Given the description of an element on the screen output the (x, y) to click on. 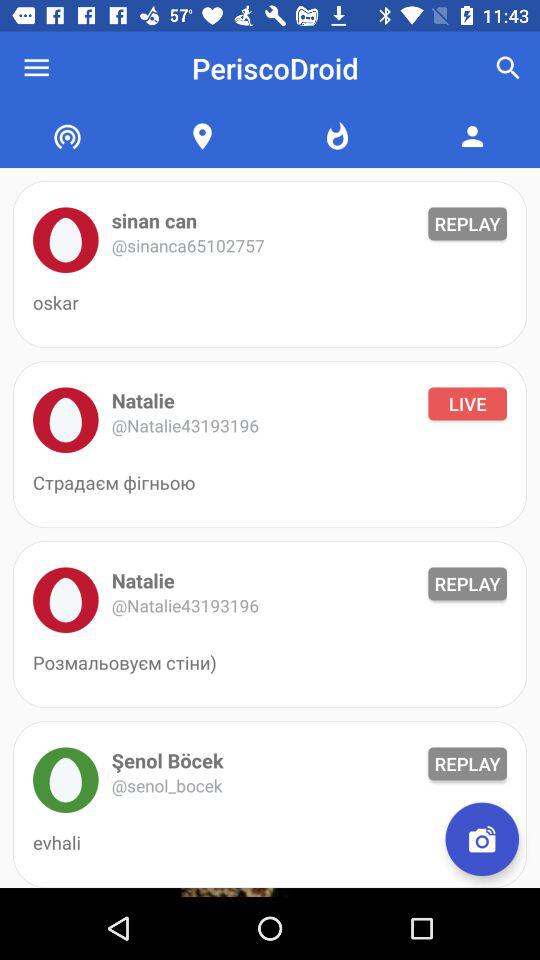
turn off item to the right of periscodroid icon (508, 67)
